Given the description of an element on the screen output the (x, y) to click on. 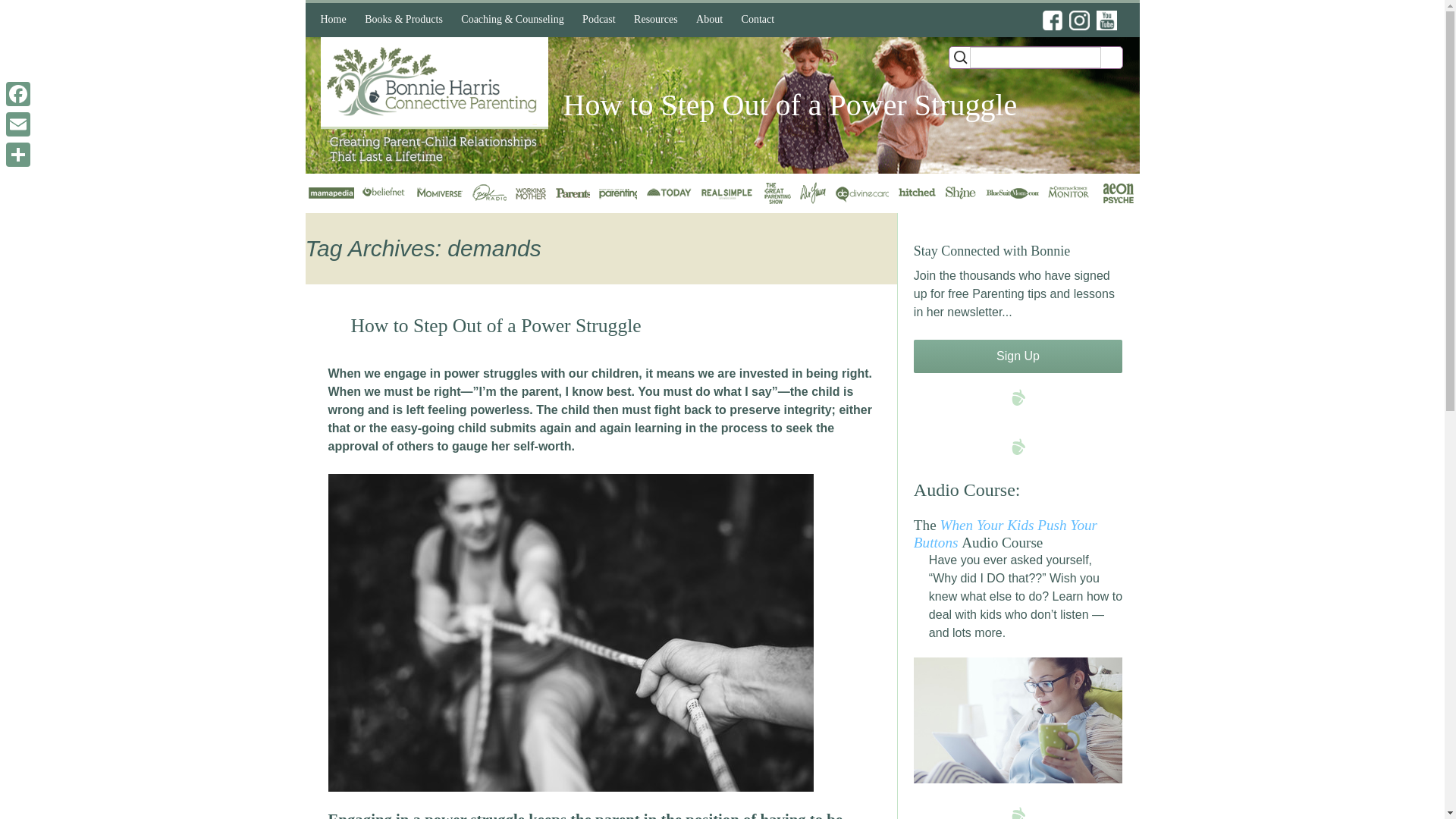
About Bonnie Harris (769, 52)
Email (17, 123)
How to Step Out of a Power Struggle (495, 325)
Resources (655, 19)
How Can Connective Parenting Help? (533, 58)
Audio Course: (967, 489)
Facebook (17, 93)
About (709, 19)
Contact (758, 19)
Podcast (599, 19)
Home (333, 19)
Sign Up (1018, 356)
